Given the description of an element on the screen output the (x, y) to click on. 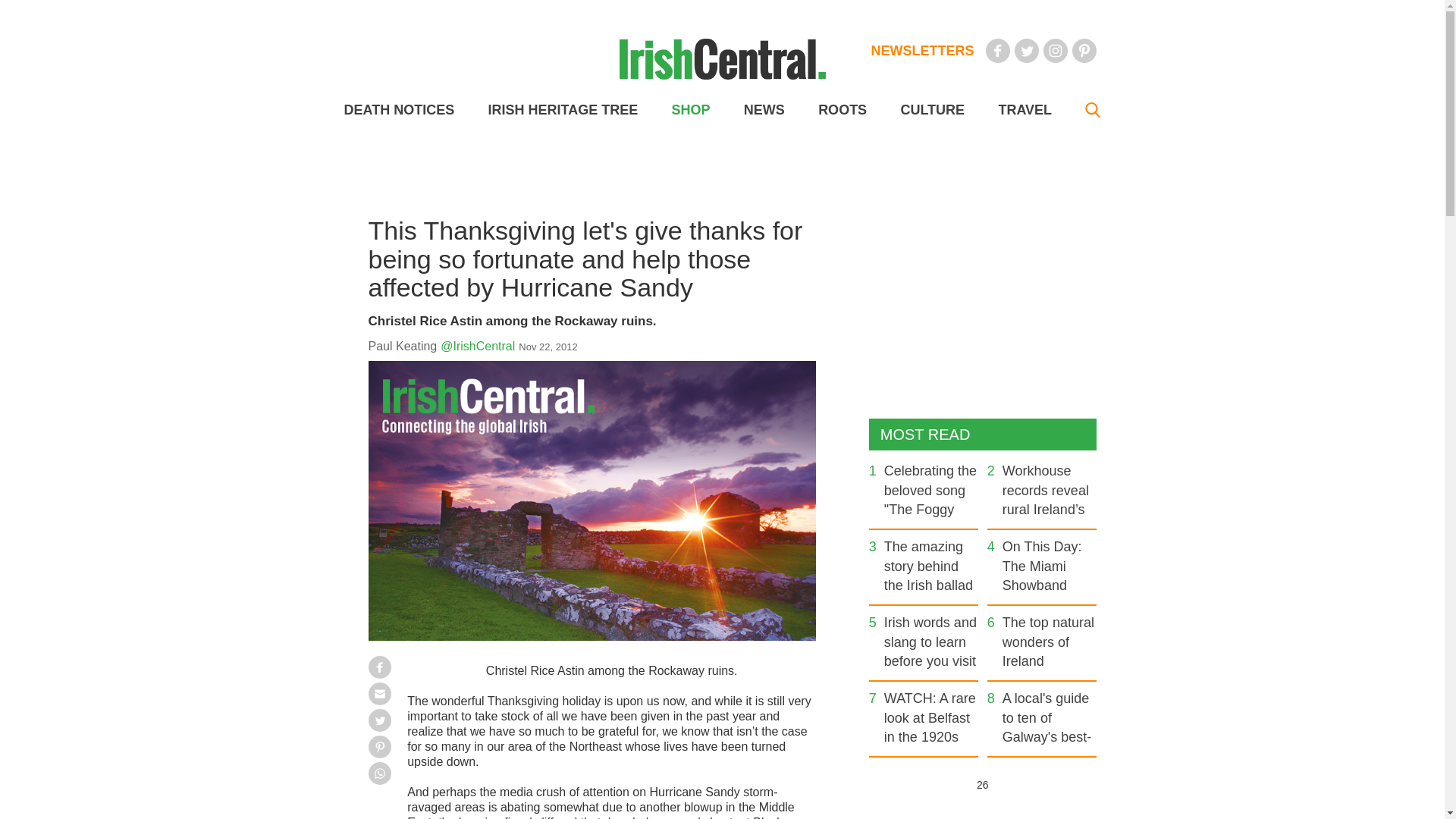
TRAVEL (1024, 109)
26 (981, 784)
ROOTS (842, 109)
NEWS (764, 109)
IRISH HERITAGE TREE (562, 109)
NEWSLETTERS (922, 50)
SHOP (690, 109)
CULTURE (931, 109)
DEATH NOTICES (398, 109)
